Given the description of an element on the screen output the (x, y) to click on. 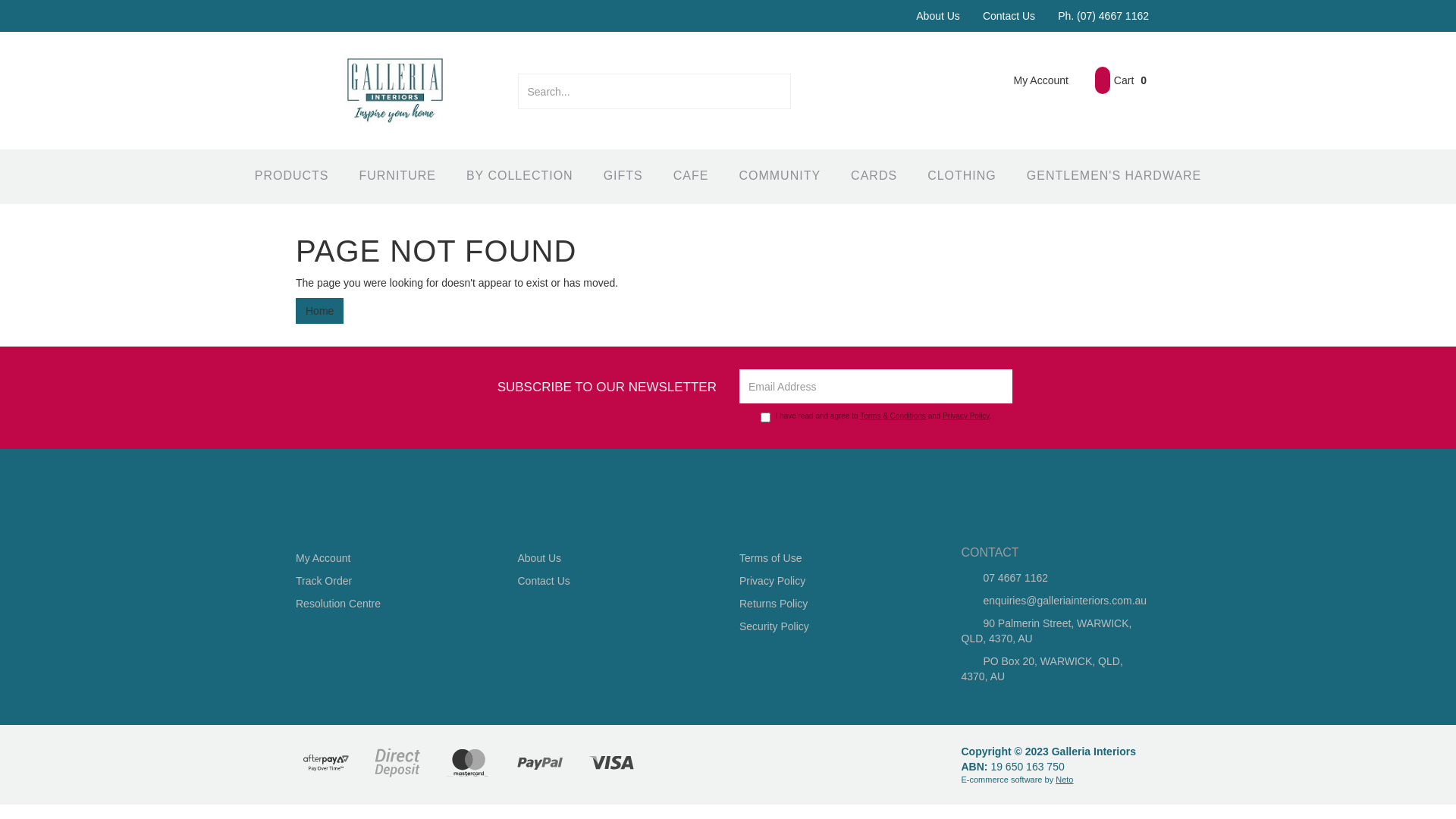
FURNITURE Element type: text (396, 176)
About Us Element type: text (611, 557)
COMMUNITY Element type: text (779, 176)
PRODUCTS Element type: text (291, 176)
About Us Element type: text (937, 15)
Track Order Element type: text (389, 580)
Ph. (07) 4667 1162 Element type: text (1103, 15)
My Account Element type: text (389, 557)
BY COLLECTION Element type: text (519, 176)
Terms & Conditions Element type: text (892, 415)
Security Policy Element type: text (833, 626)
Contact Us Element type: text (1008, 15)
90 Palmerin Street, WARWICK, QLD, 4370, AU Element type: text (1054, 630)
GIFTS Element type: text (623, 176)
Neto Element type: text (1064, 779)
Returns Policy Element type: text (833, 603)
GENTLEMEN'S HARDWARE Element type: text (1113, 176)
CARDS Element type: text (873, 176)
Search Element type: text (780, 91)
Terms of Use Element type: text (833, 557)
My Account Element type: text (1029, 80)
Resolution Centre Element type: text (389, 603)
Privacy Policy Element type: text (965, 415)
PO Box 20, WARWICK, QLD, 4370, AU Element type: text (1054, 668)
CAFE Element type: text (691, 176)
07 4667 1162 Element type: text (1054, 577)
Home Element type: text (319, 310)
CLOTHING Element type: text (961, 176)
Cart 0 Element type: text (1120, 80)
Galleria Interiors Element type: hover (394, 89)
Contact Us Element type: text (611, 580)
Privacy Policy Element type: text (833, 580)
enquiries@galleriainteriors.com.au Element type: text (1054, 600)
Subscribe Element type: text (995, 386)
